Given the description of an element on the screen output the (x, y) to click on. 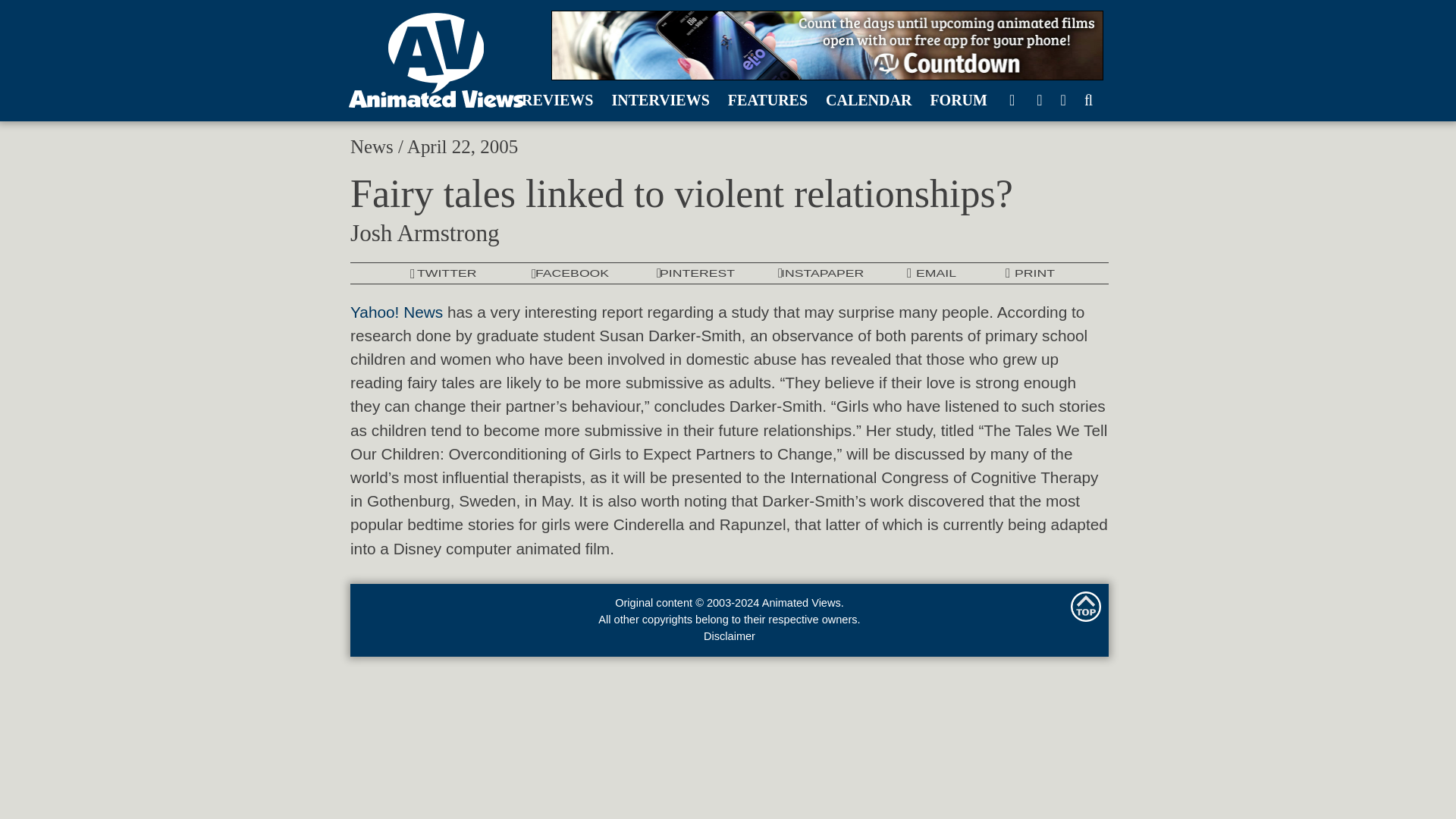
Josh Armstrong (424, 233)
News (371, 146)
Yahoo! News (396, 312)
Disclaimer (729, 635)
